Given the description of an element on the screen output the (x, y) to click on. 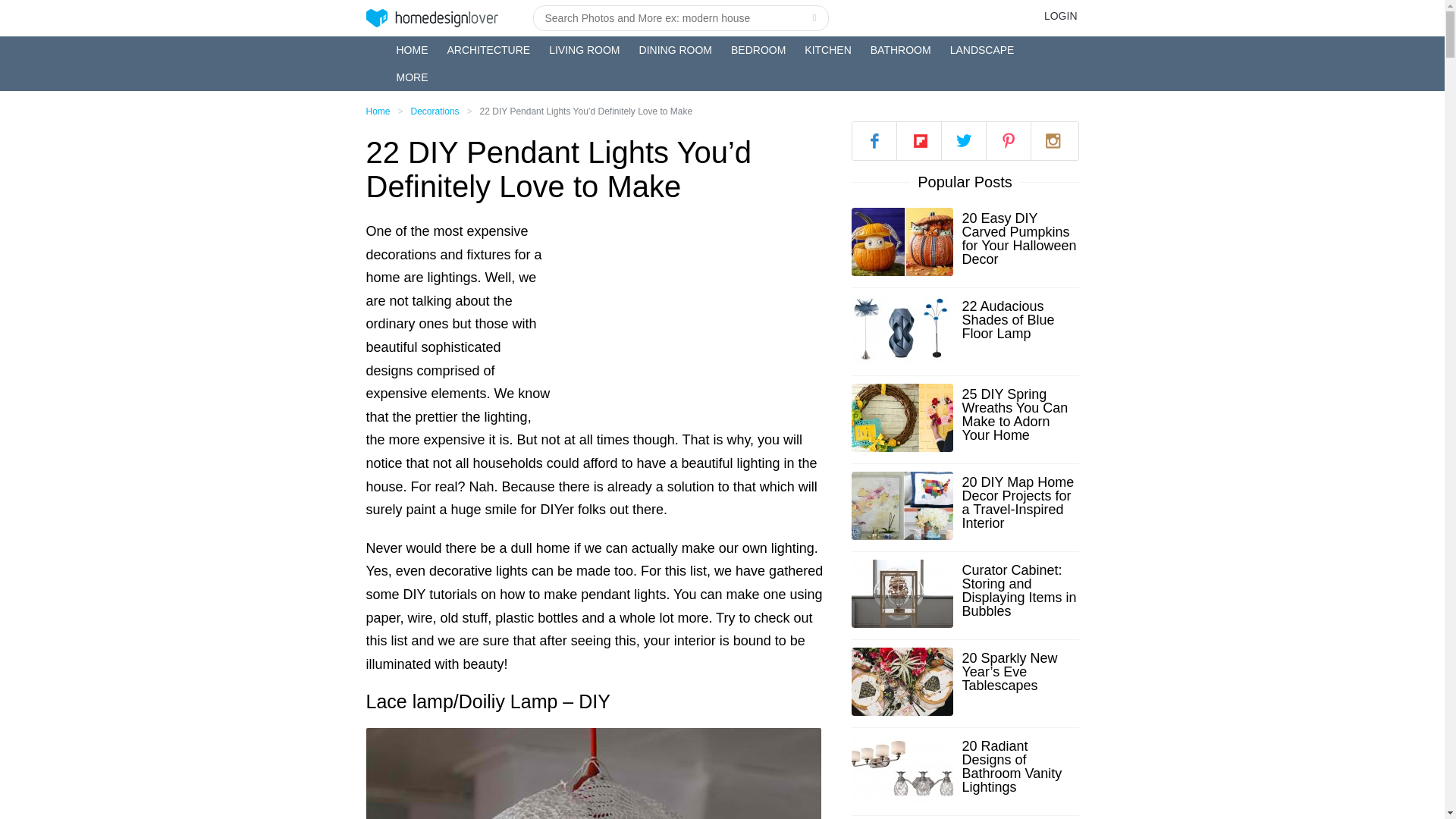
LIVING ROOM (584, 49)
DINING ROOM (675, 49)
Decorations (435, 111)
BATHROOM (900, 49)
MORE (412, 76)
22 Audacious Shades of Blue Floor Lamp (1019, 319)
twitter (963, 140)
25 DIY Spring Wreaths You Can Make to Adorn Your Home (1019, 414)
flipboard (918, 140)
instagram (1053, 140)
LOGIN (1060, 15)
facebook (874, 140)
20 Easy DIY Carved Pumpkins for Your Halloween Decor (1019, 238)
Curator Cabinet: Storing and Displaying Items in Bubbles (1019, 590)
